Given the description of an element on the screen output the (x, y) to click on. 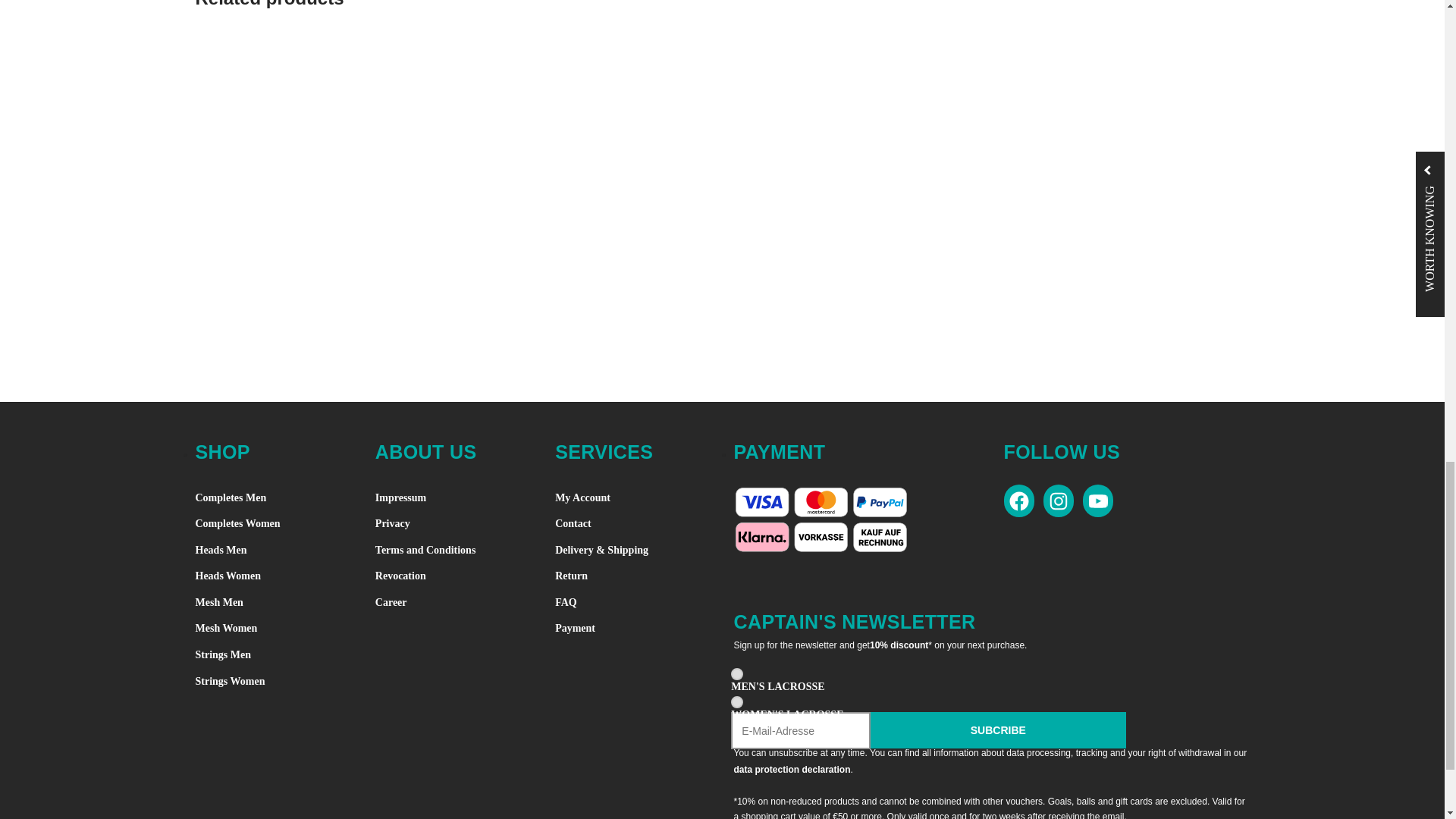
SUBCRIBE (997, 729)
LAX-GIRL (736, 702)
LAX-BOY (736, 674)
